Given the description of an element on the screen output the (x, y) to click on. 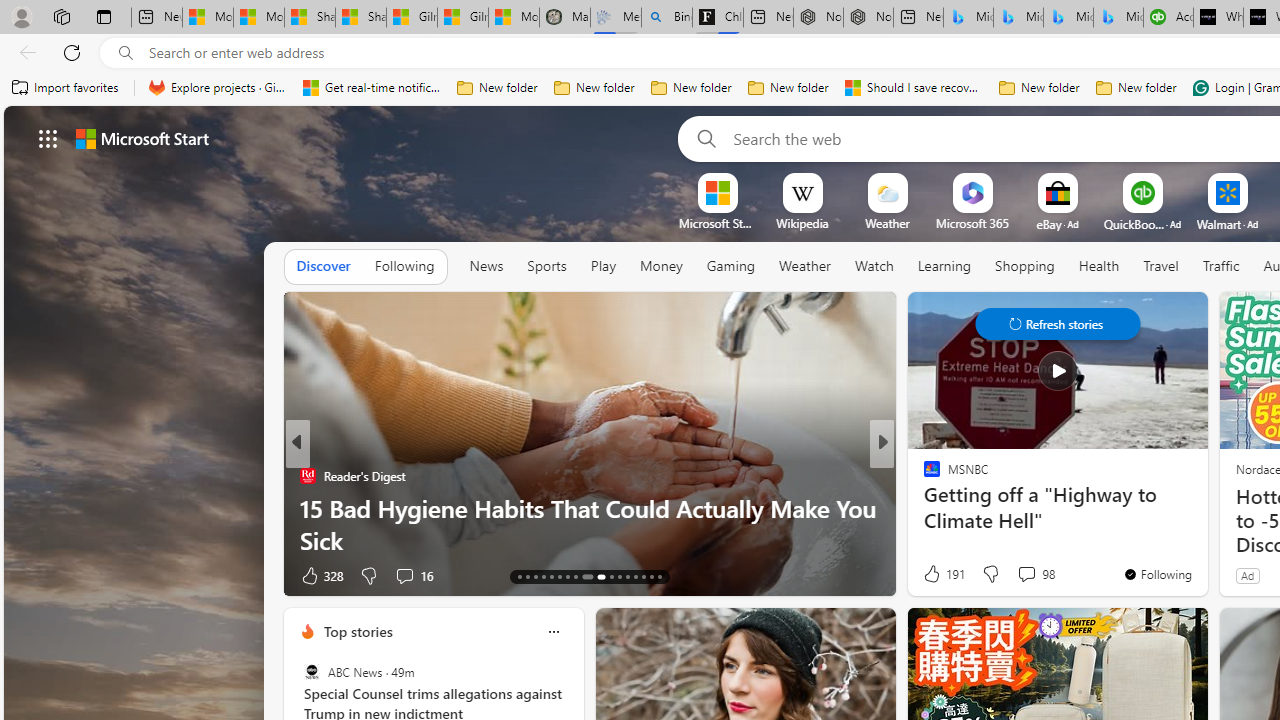
152 Like (936, 574)
2 Like (930, 574)
Play (602, 265)
View comments 7 Comment (1019, 574)
59 Like (934, 574)
AutomationID: tab-16 (542, 576)
Play (603, 267)
Gilma and Hector both pose tropical trouble for Hawaii (462, 17)
View comments 56 Comment (1019, 575)
Gaming (730, 267)
